Given the description of an element on the screen output the (x, y) to click on. 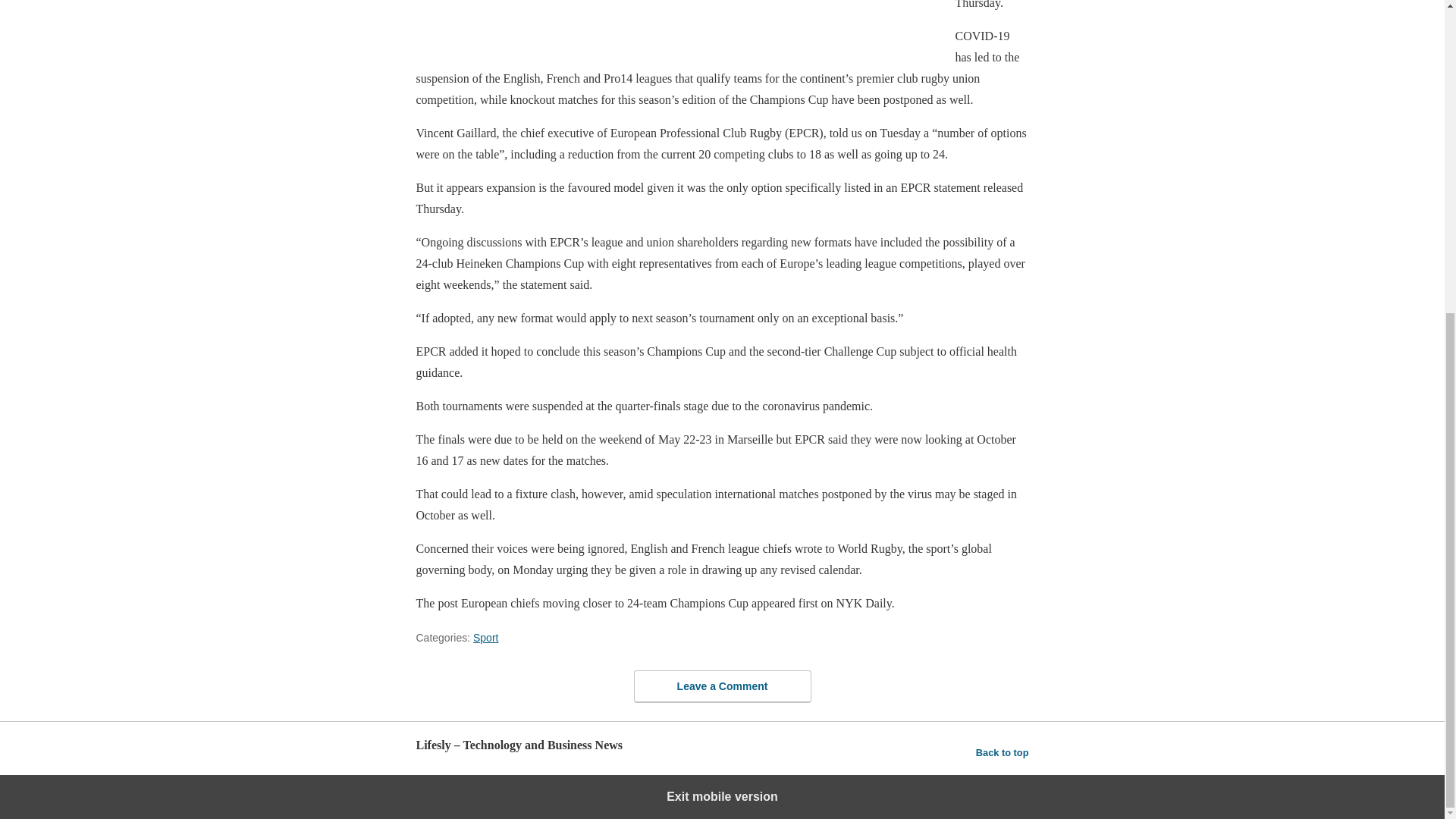
Sport (485, 637)
Leave a Comment (721, 686)
Back to top (1002, 752)
